Given the description of an element on the screen output the (x, y) to click on. 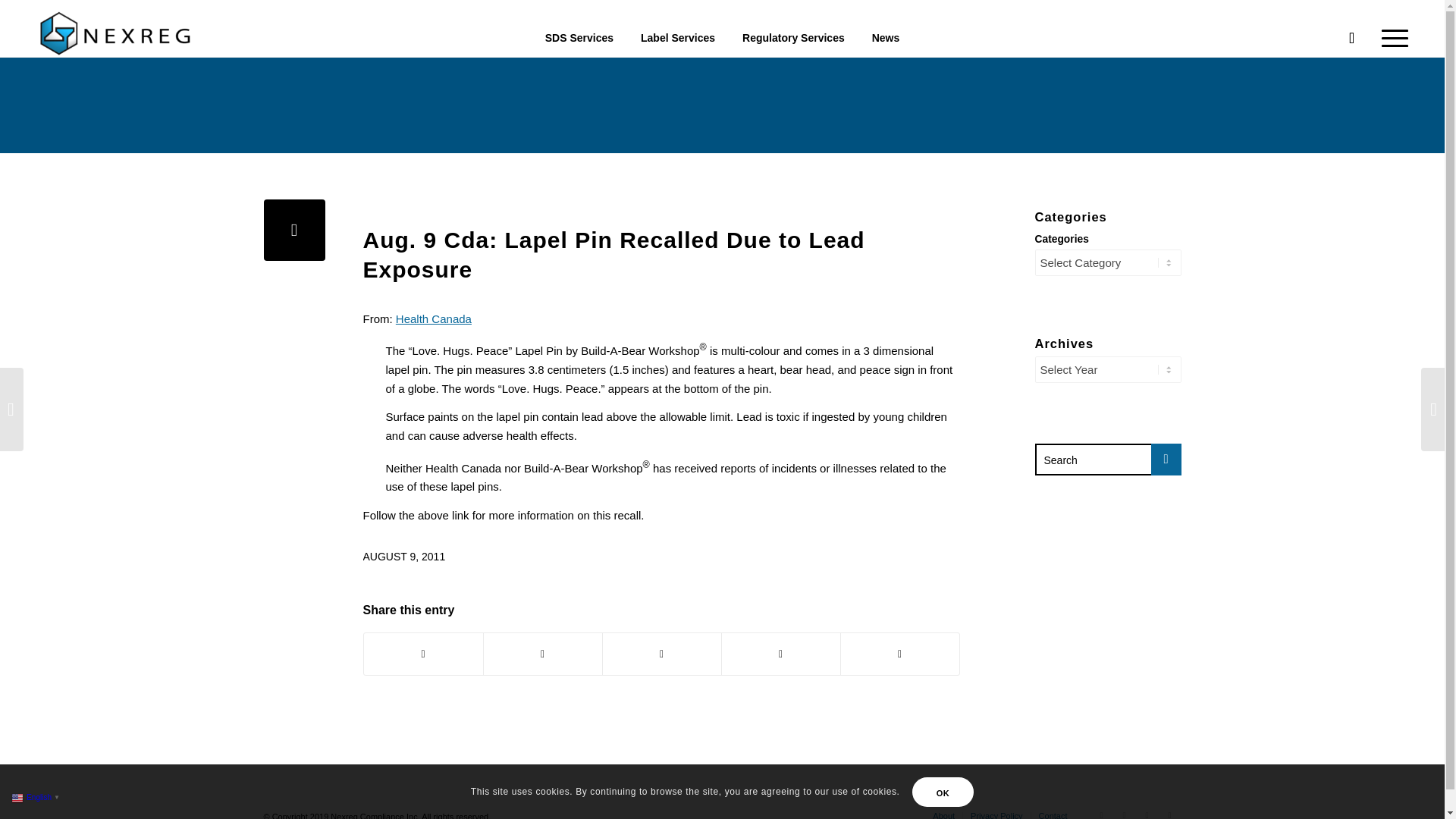
Label Services (678, 28)
Health Canada (433, 318)
Twitter (1101, 811)
Facebook (1124, 811)
Aug. 9 Cda: Lapel Pin Recalled Due to Lead Exposure (293, 230)
Regulatory Services (794, 28)
Instagram (1169, 811)
Linkedin (1146, 811)
SDS Services (579, 28)
